Given the description of an element on the screen output the (x, y) to click on. 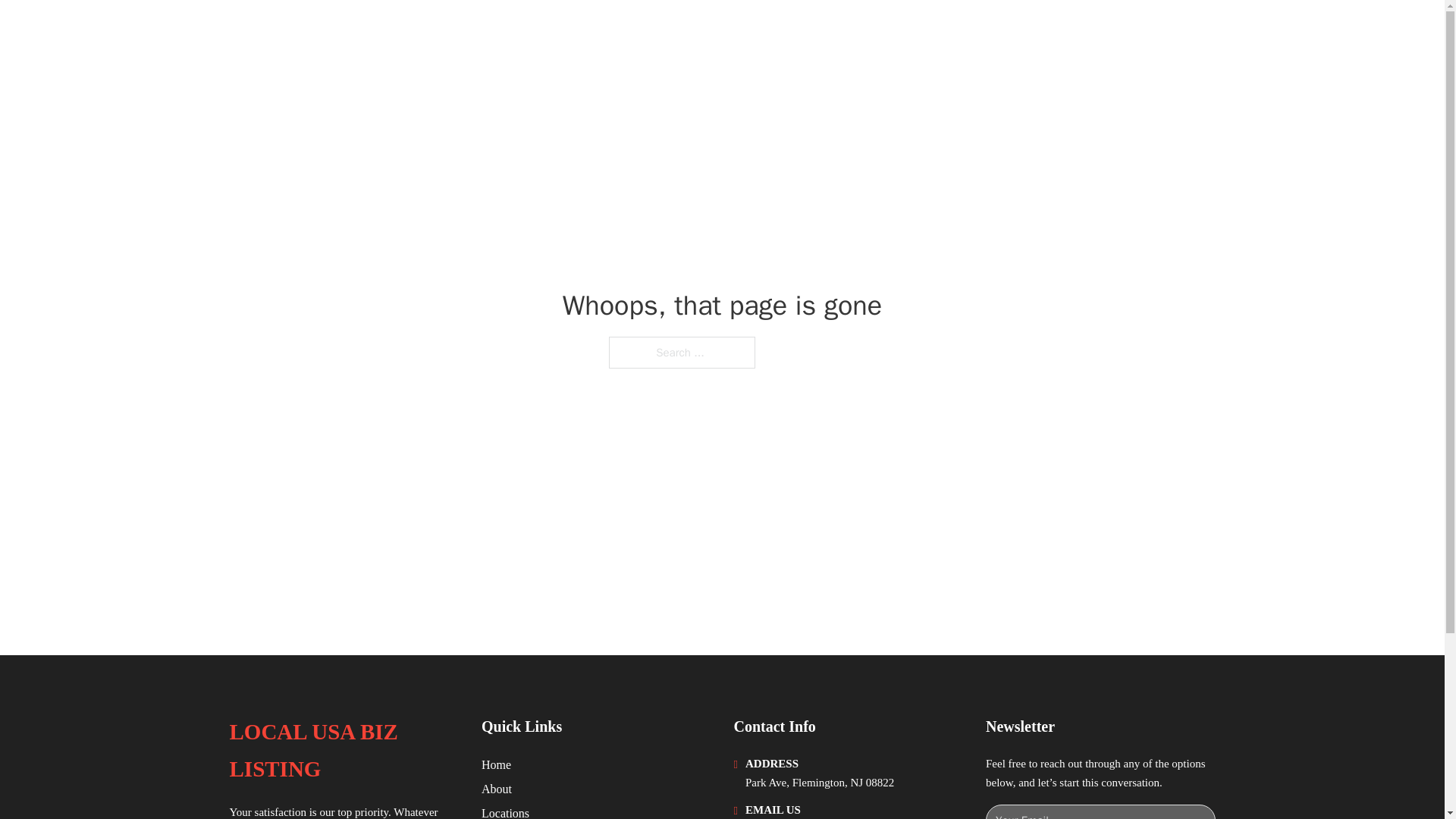
LOCAL USA BIZ LISTING (343, 750)
HOME (1025, 31)
About (496, 788)
LOCATIONS (1098, 31)
LOCAL USA BIZ LISTING (375, 31)
Locations (505, 811)
Home (496, 764)
